Given the description of an element on the screen output the (x, y) to click on. 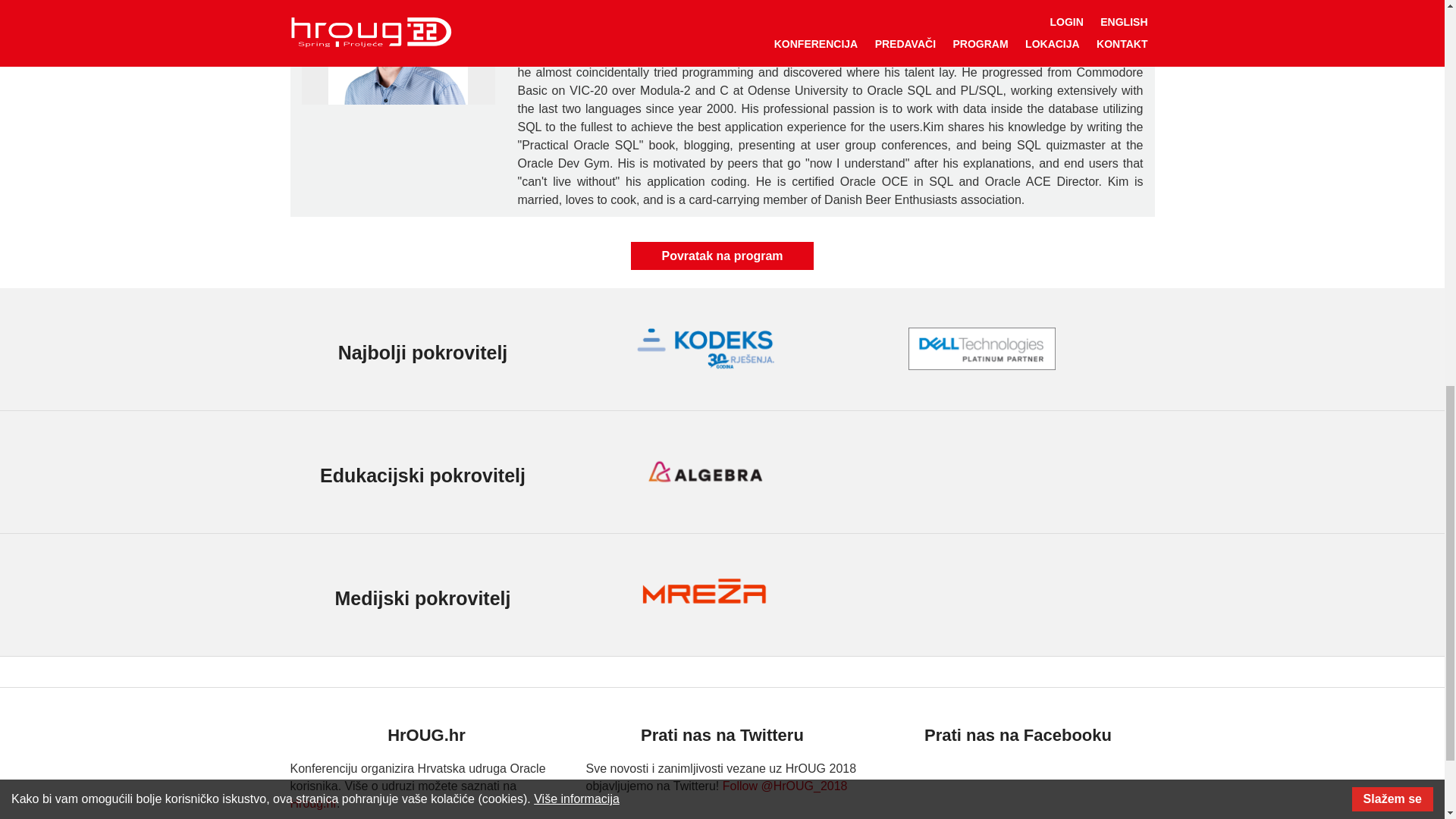
Kodeks DELL platinum partner (981, 348)
Algebra (704, 471)
Hroug.hr (312, 802)
Povratak na program (721, 255)
Hansen Kim Berg (398, 52)
Kodeks 30 godina (704, 348)
